Given the description of an element on the screen output the (x, y) to click on. 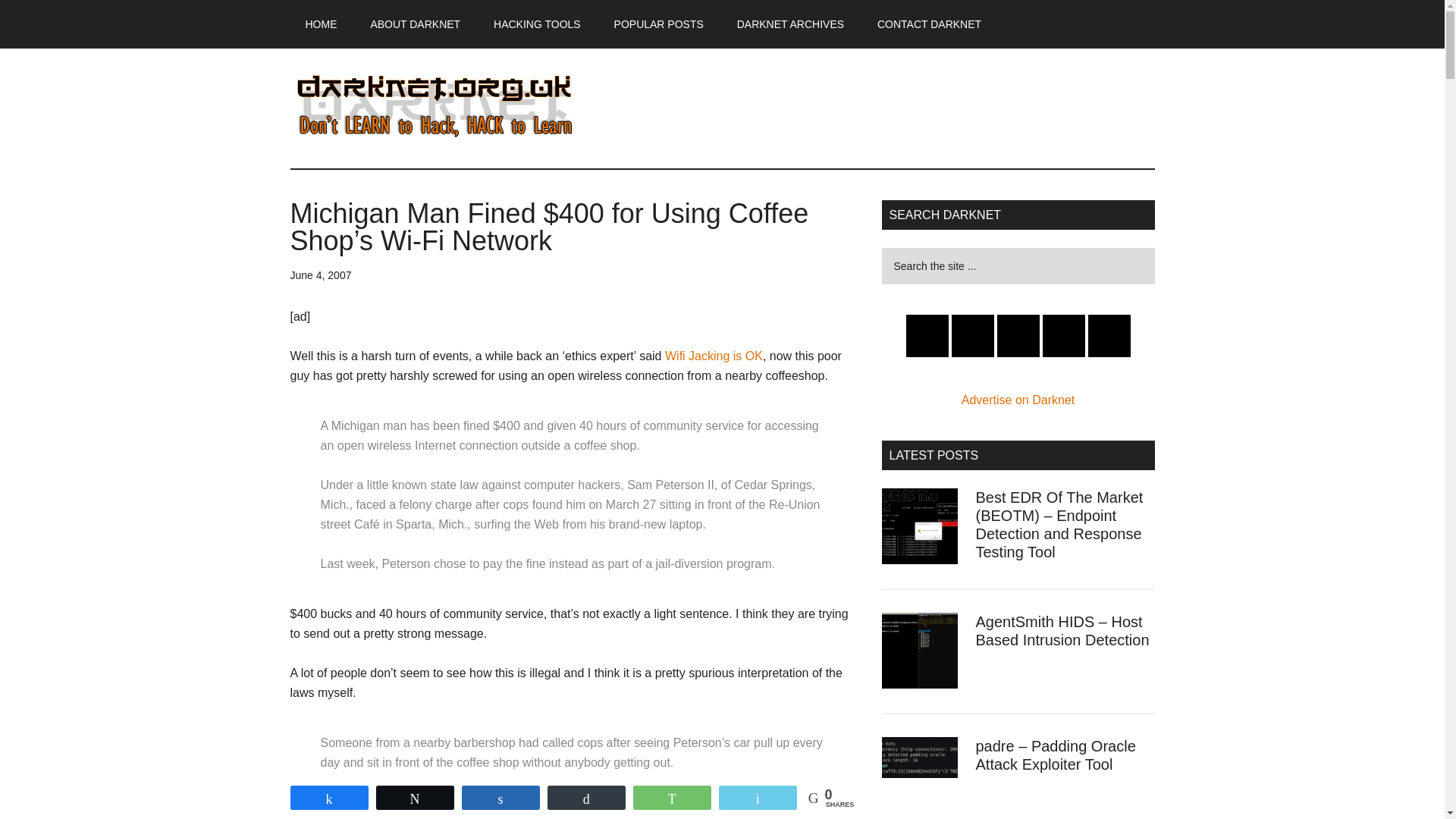
DARKNET ARCHIVES (790, 24)
HOME (320, 24)
ABOUT DARKNET (415, 24)
Wifi Jacking is OK (713, 355)
CONTACT DARKNET (928, 24)
HACKING TOOLS (537, 24)
POPULAR POSTS (658, 24)
